Given the description of an element on the screen output the (x, y) to click on. 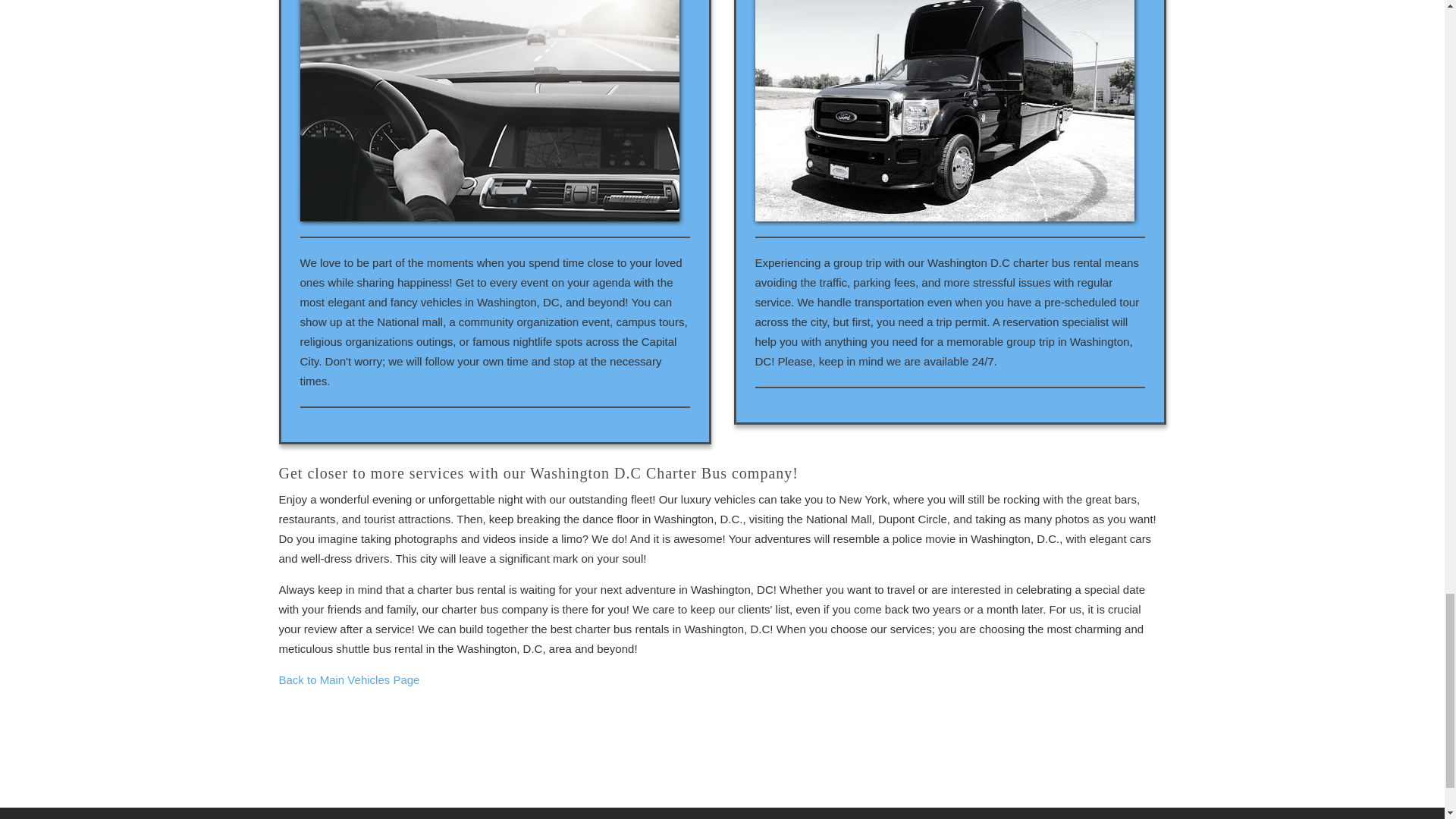
Back to Main Vehicles Page (349, 679)
